Given the description of an element on the screen output the (x, y) to click on. 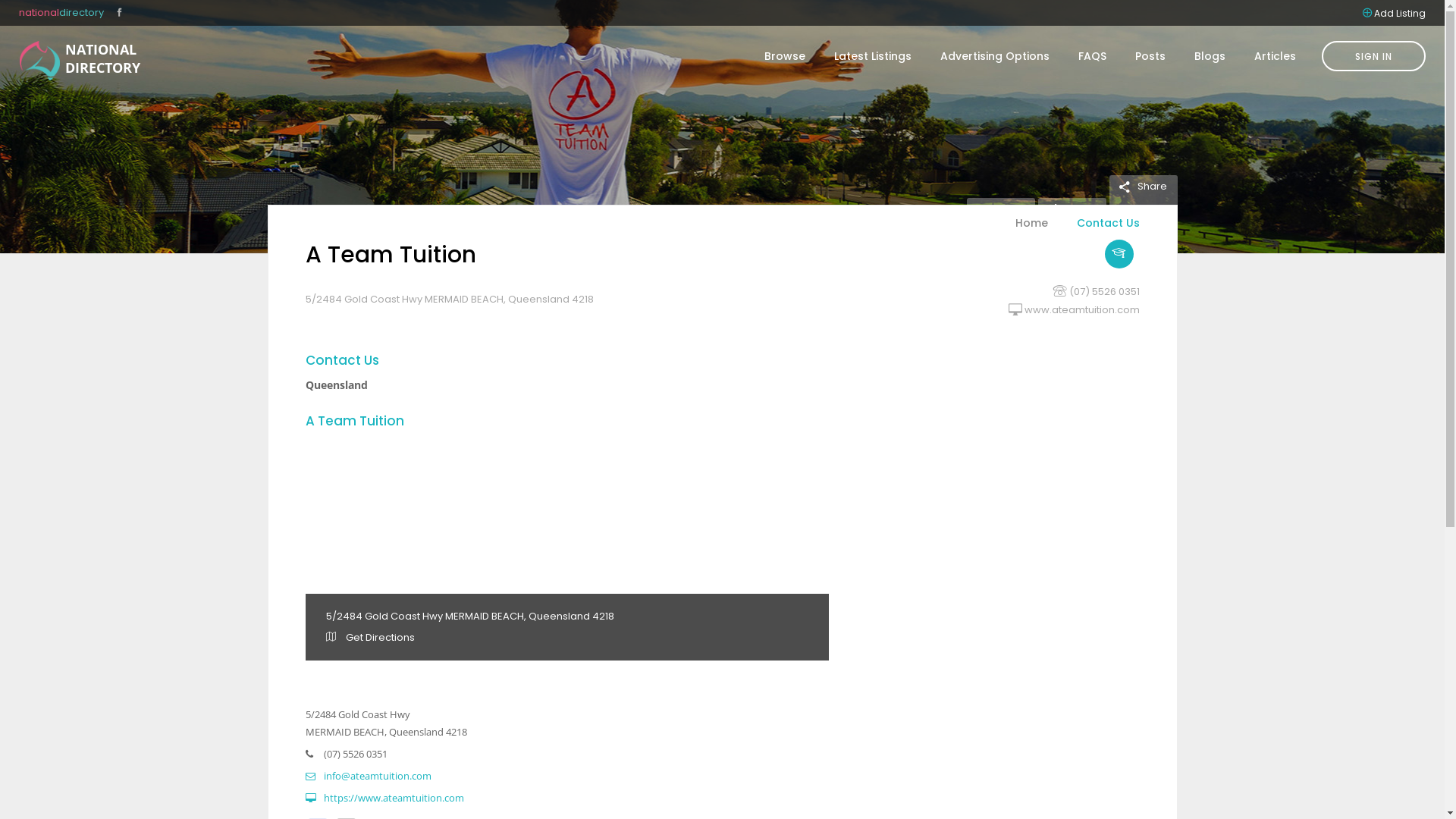
Like Element type: text (1065, 208)
www.ateamtuition.com Element type: text (1081, 309)
NATIONAL
DIRECTORY Element type: text (39, 60)
Share Element type: text (1142, 186)
Add Listing Element type: text (1399, 12)
Follow Element type: text (999, 208)
Home Element type: text (1031, 231)
Blogs Element type: text (1209, 55)
info@ateamtuition.com Element type: text (367, 775)
Advertising Options Element type: text (994, 55)
Posts Element type: text (1149, 55)
Articles Element type: text (1267, 55)
FAQS Element type: text (1091, 55)
https://www.ateamtuition.com Element type: text (383, 797)
nationaldirectory Element type: text (60, 12)
SIGN IN Element type: text (1373, 55)
Get Directions Element type: text (370, 637)
Browse Element type: text (784, 55)
Latest Listings Element type: text (872, 55)
Contact Us Element type: text (1100, 231)
